Given the description of an element on the screen output the (x, y) to click on. 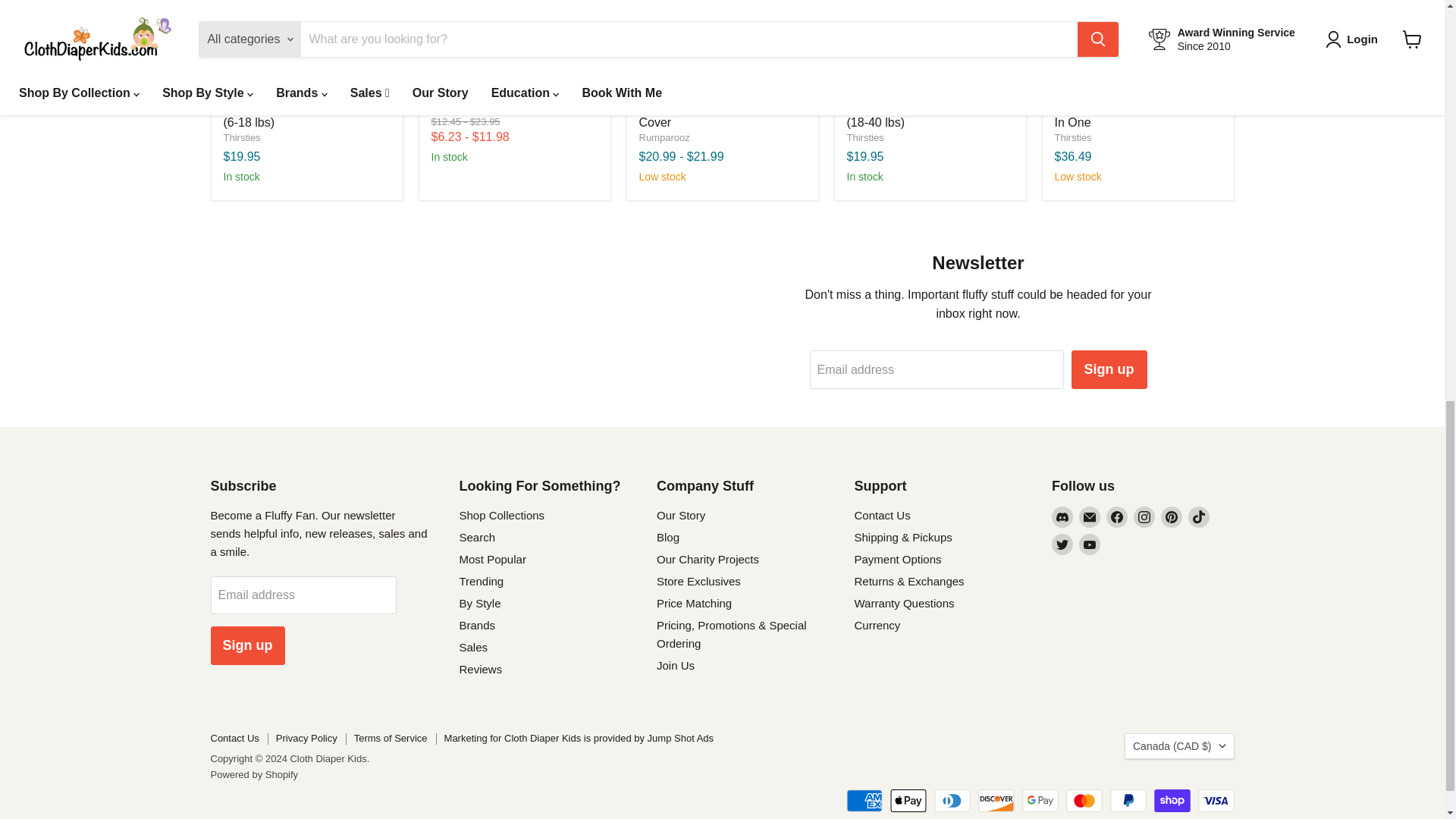
Thirsties (448, 103)
Rumparooz (663, 137)
Thirsties (864, 137)
Instagram (1144, 516)
Facebook (1116, 516)
Discord (1062, 516)
TikTok (1198, 516)
Twitter (1062, 544)
Pinterest (1171, 516)
Email (1089, 516)
Thirsties (1072, 137)
Thirsties (241, 137)
YouTube (1089, 544)
